Given the description of an element on the screen output the (x, y) to click on. 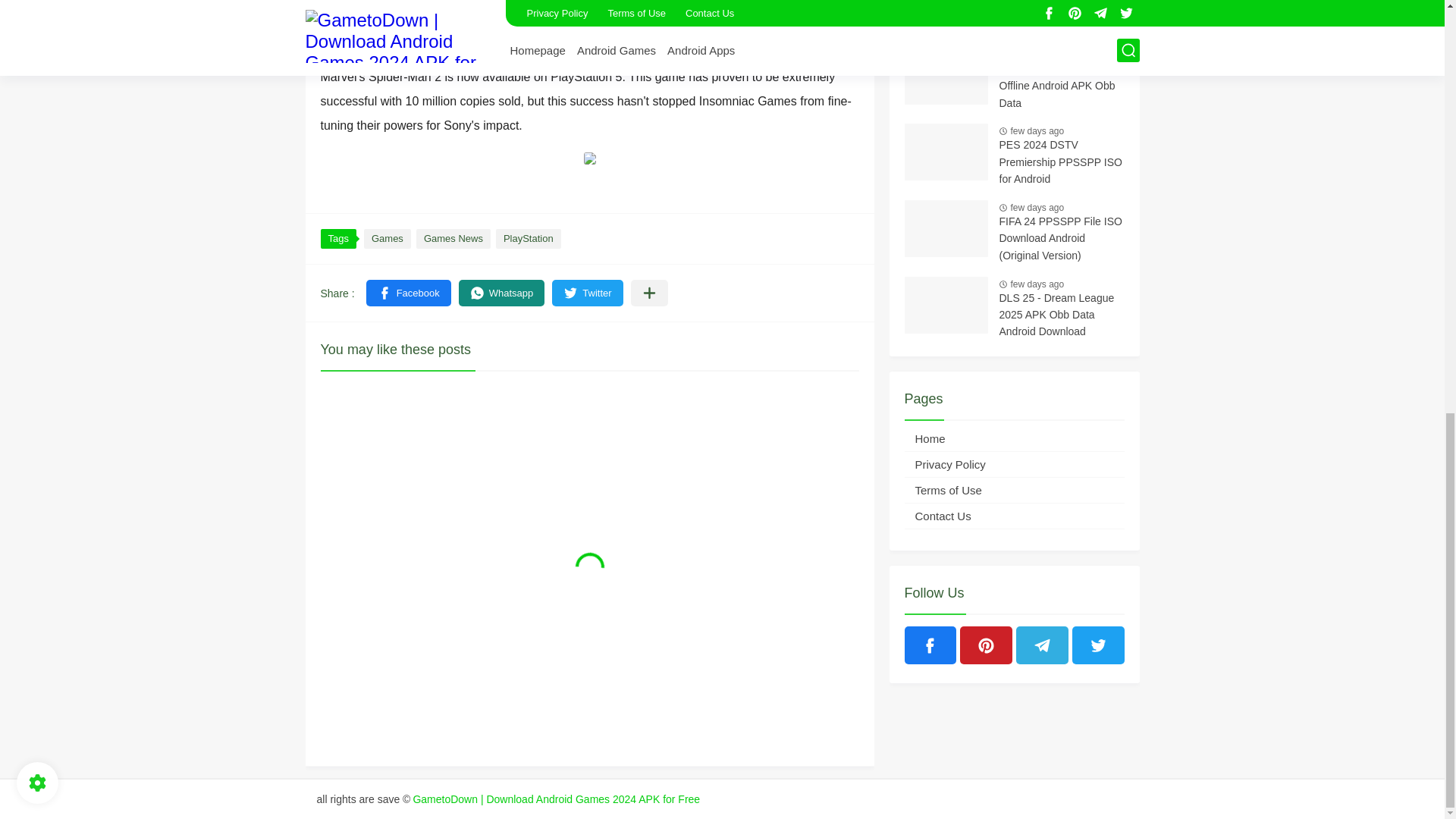
Games (387, 238)
PlayStation (528, 238)
Games News (453, 238)
Games (387, 238)
Games News (453, 238)
PlayStation (528, 238)
